Given the description of an element on the screen output the (x, y) to click on. 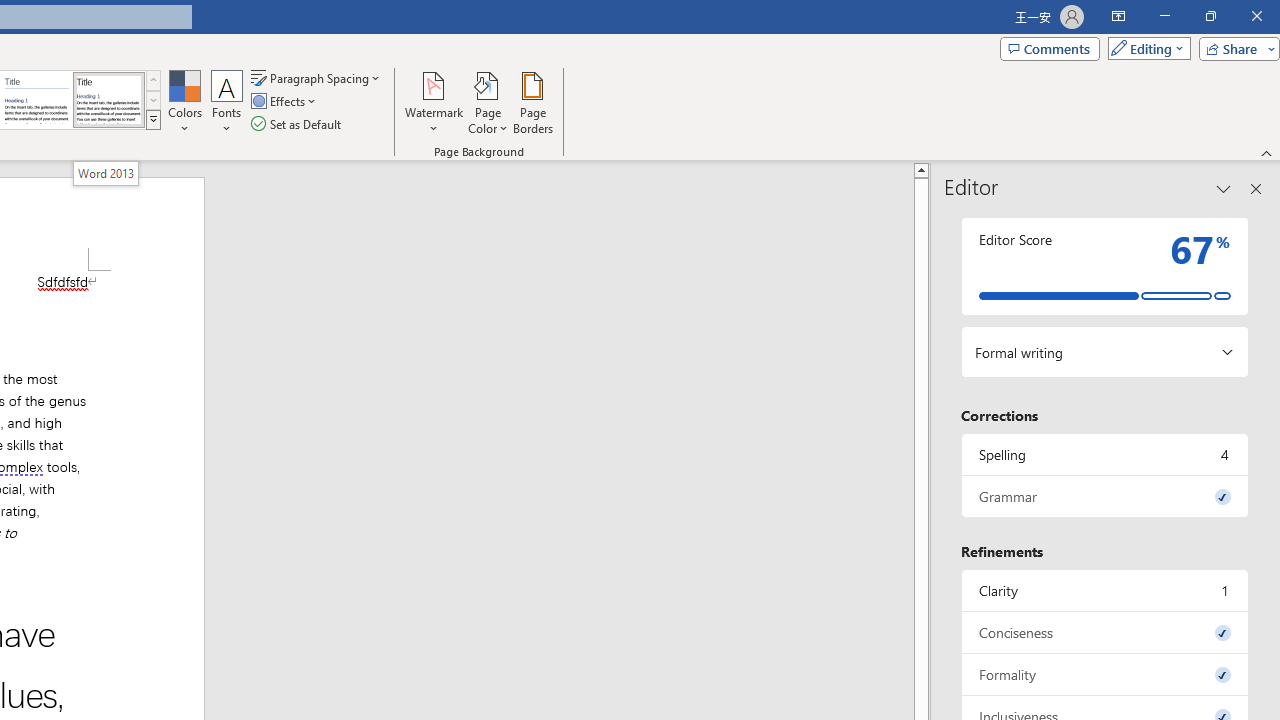
Formality, 0 issues. Press space or enter to review items. (1105, 673)
Conciseness, 0 issues. Press space or enter to review items. (1105, 632)
Style Set (153, 120)
Effects (285, 101)
Colors (184, 102)
Paragraph Spacing (317, 78)
Grammar, 0 issues. Press space or enter to review items. (1105, 495)
